Given the description of an element on the screen output the (x, y) to click on. 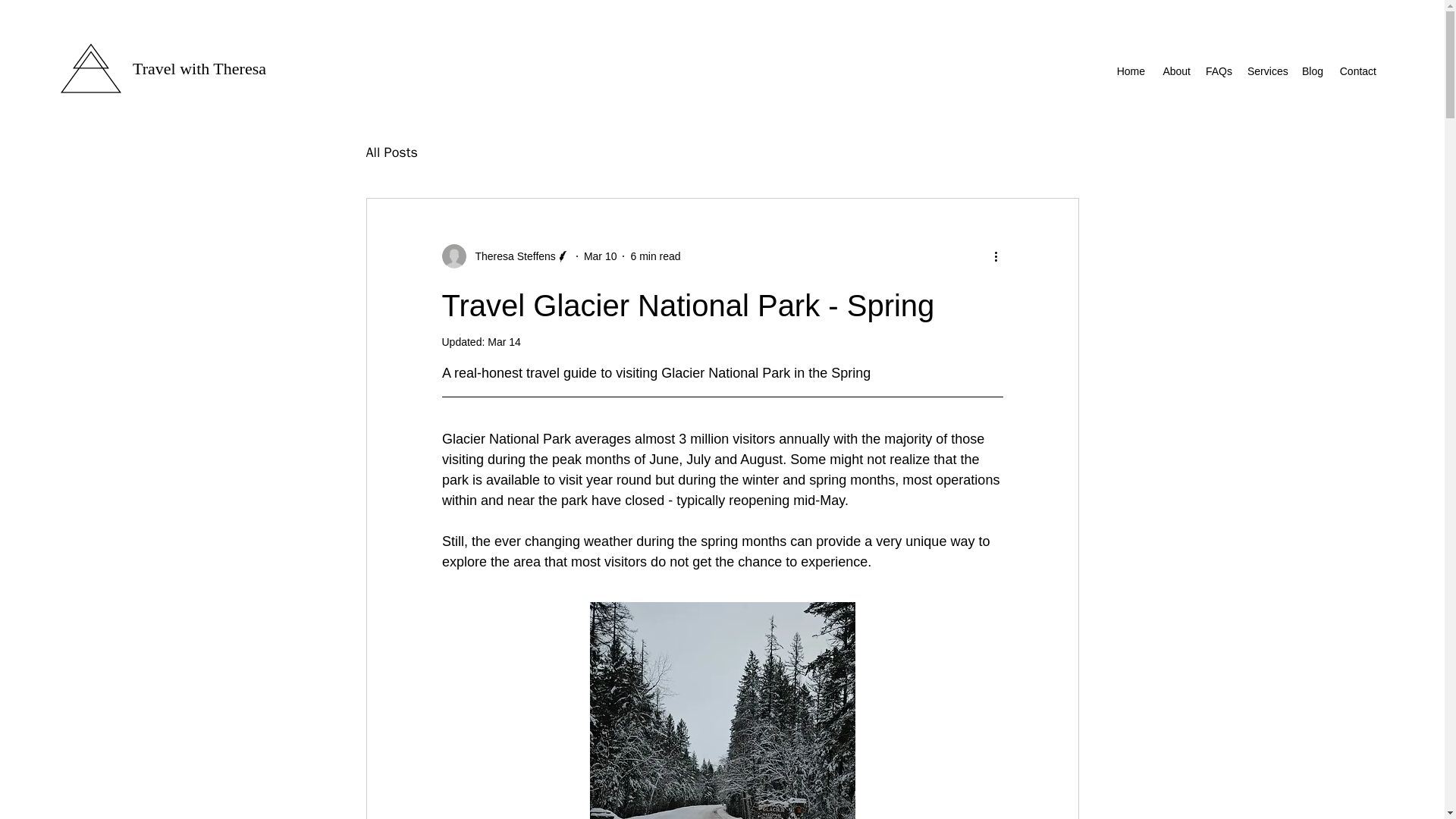
Home (1130, 71)
All Posts (390, 152)
Services (1267, 71)
Theresa Steffens (509, 256)
About (1175, 71)
Mar 10 (600, 256)
Blog (1312, 71)
FAQs (1219, 71)
6 min read (654, 256)
Contact (1357, 71)
